Given the description of an element on the screen output the (x, y) to click on. 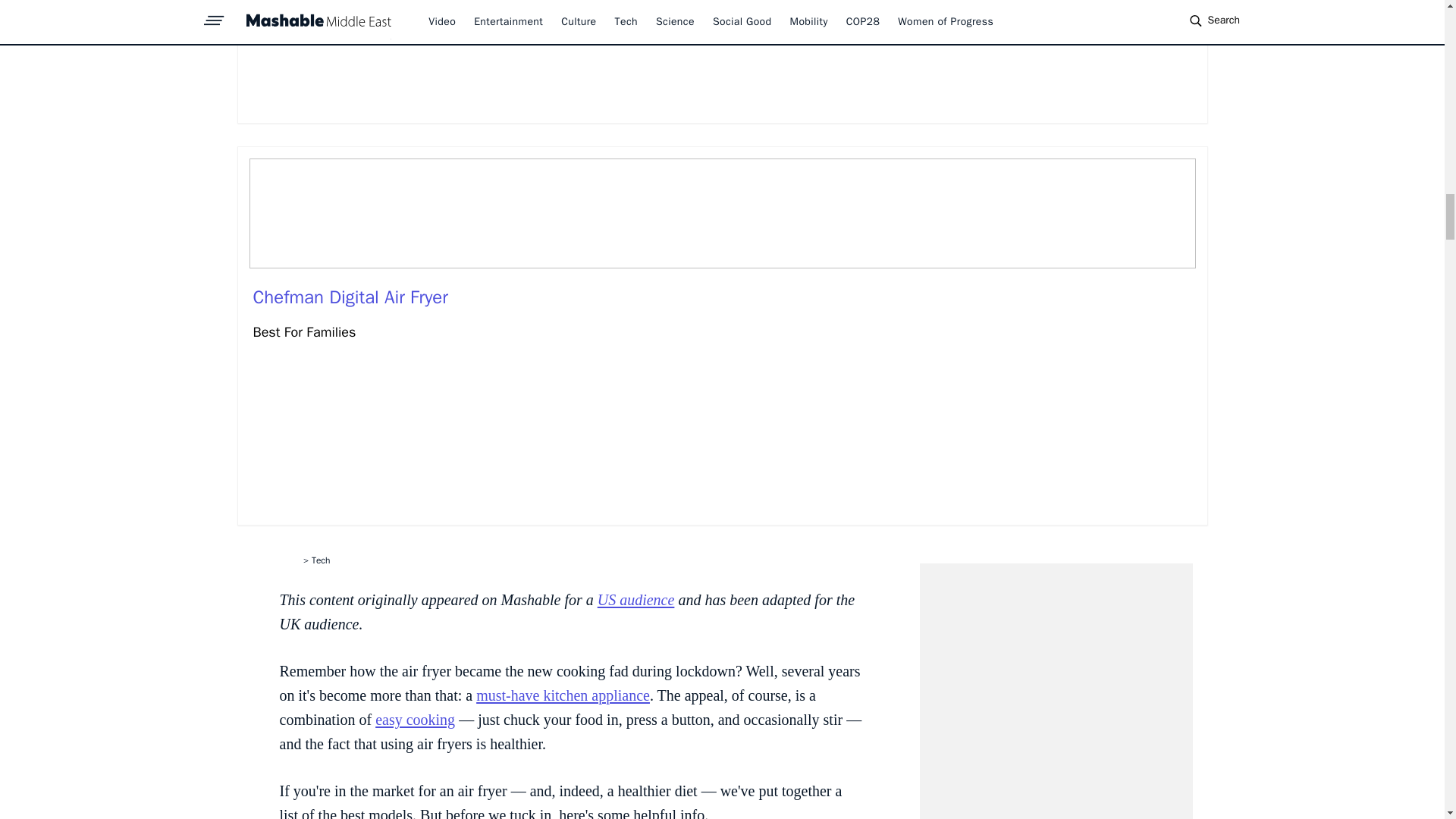
Chefman Digital Air Fryer (350, 296)
Tech (320, 560)
Tech (320, 560)
